Given the description of an element on the screen output the (x, y) to click on. 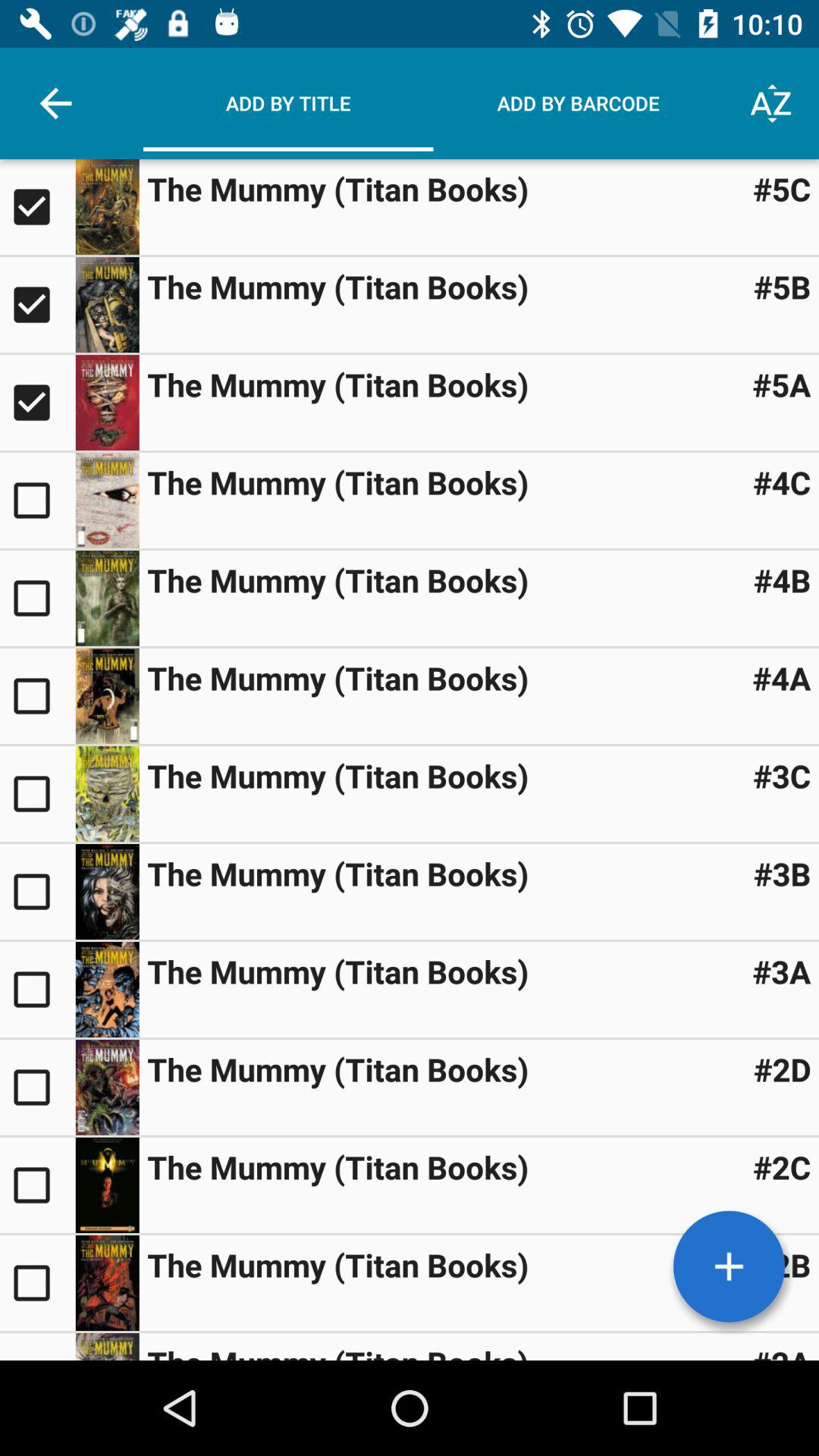
toggle check box (37, 500)
